Given the description of an element on the screen output the (x, y) to click on. 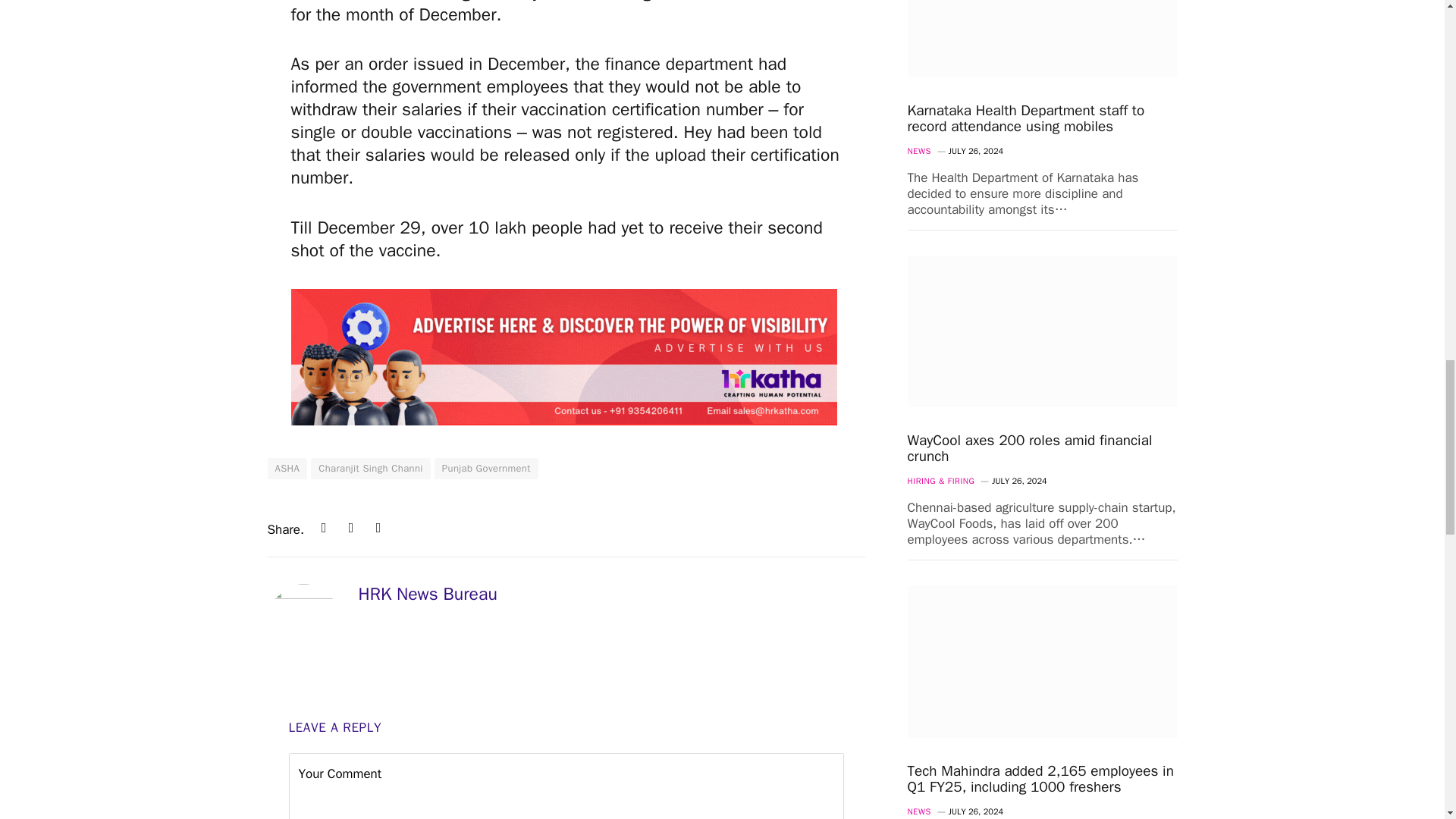
Share on LinkedIn (323, 527)
